Given the description of an element on the screen output the (x, y) to click on. 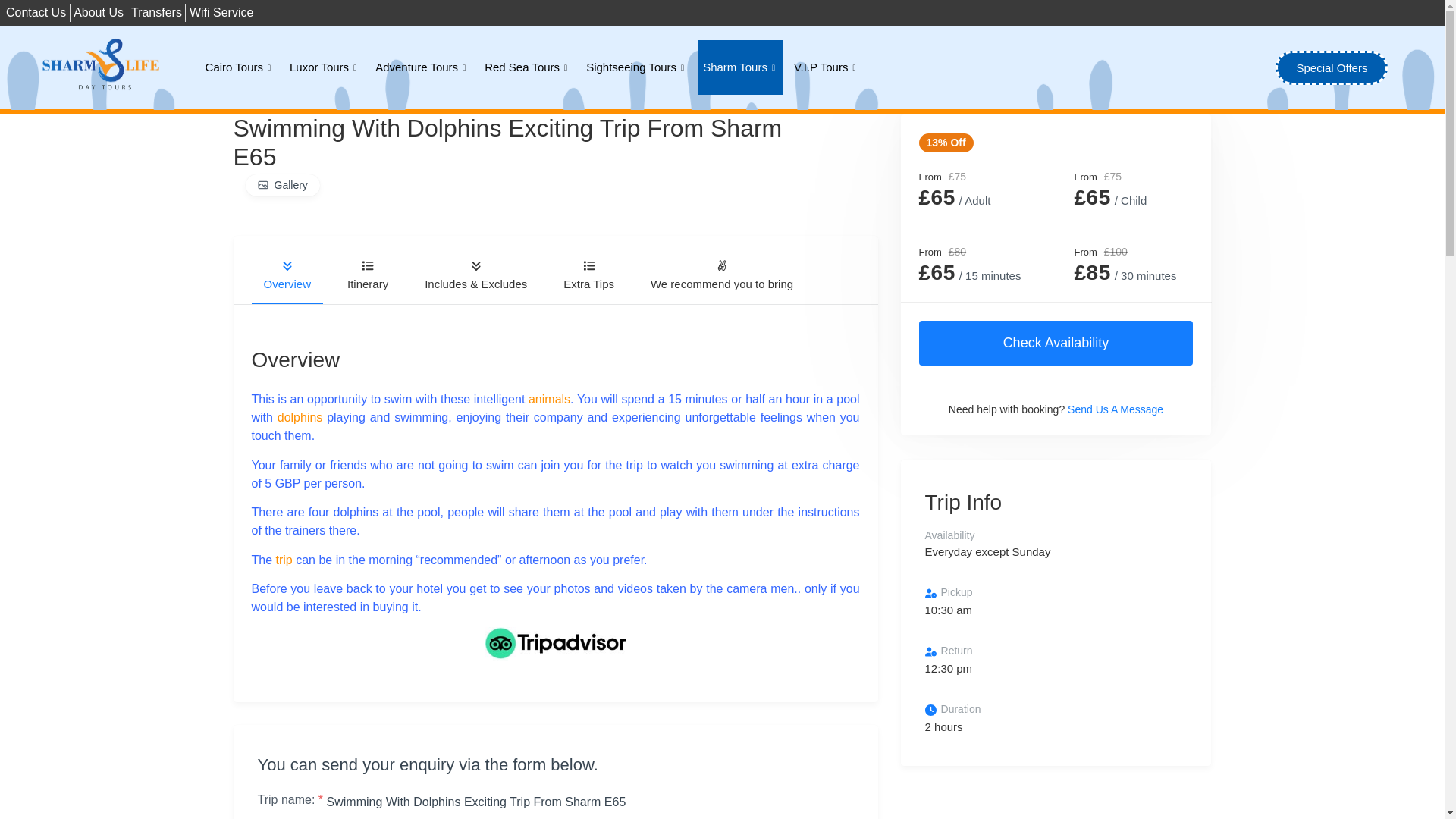
Sharm Tours (740, 67)
 - Sharm Life (555, 643)
Luxor Tours (325, 67)
Contact Us (35, 13)
SHARM LIFE LOGO-2 - Sharm Life (100, 64)
Transfers (156, 13)
Wifi Service (221, 13)
Adventure Tours (422, 67)
About Us (98, 13)
Red Sea Tours (527, 67)
